Given the description of an element on the screen output the (x, y) to click on. 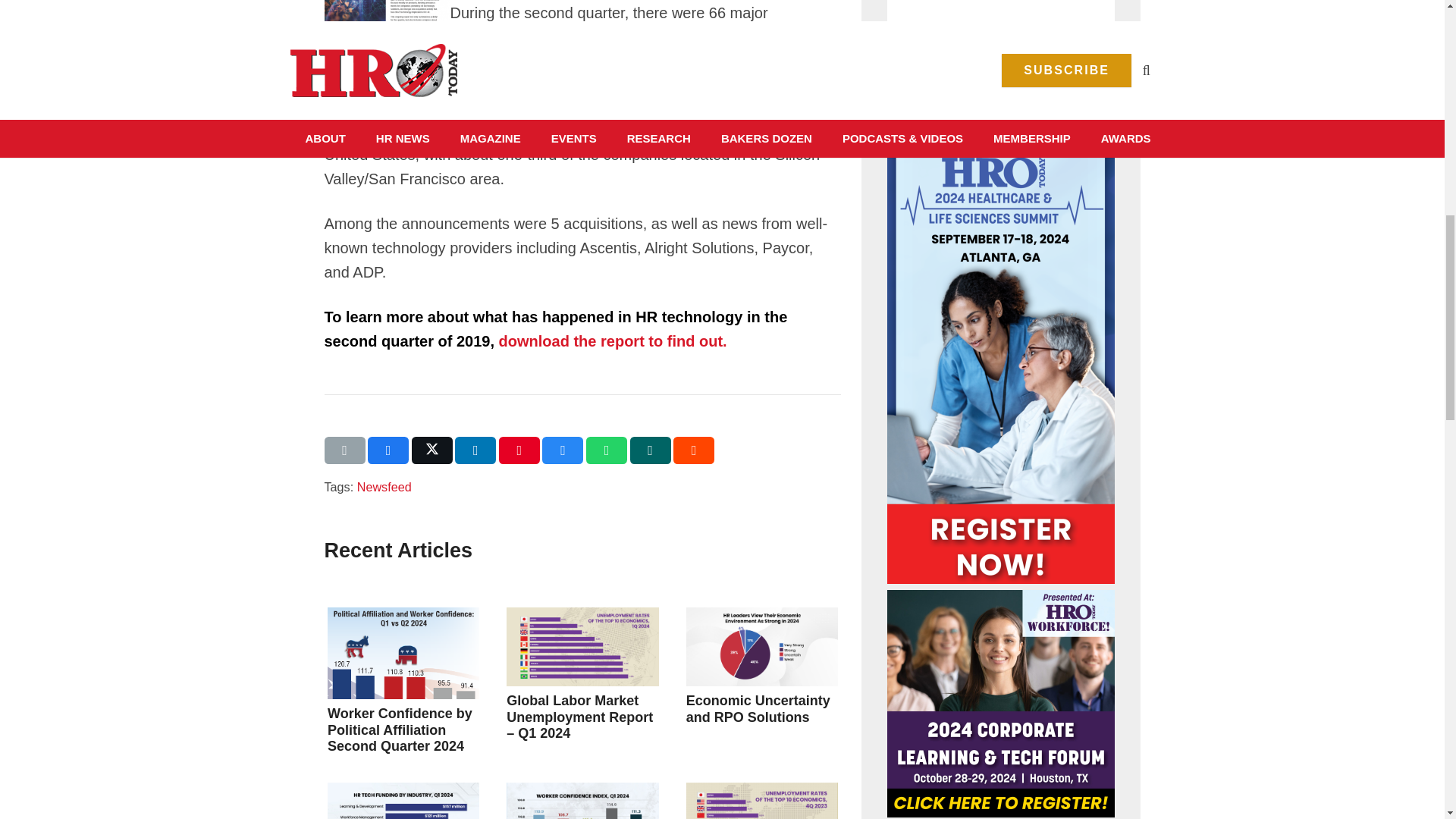
Share this (606, 450)
Share this (475, 450)
Email this (344, 450)
Share this (693, 450)
Share this (650, 450)
Pin this (519, 450)
Tweet this (432, 450)
Share this (388, 450)
advertisement (1000, 47)
Share this (562, 450)
